Given the description of an element on the screen output the (x, y) to click on. 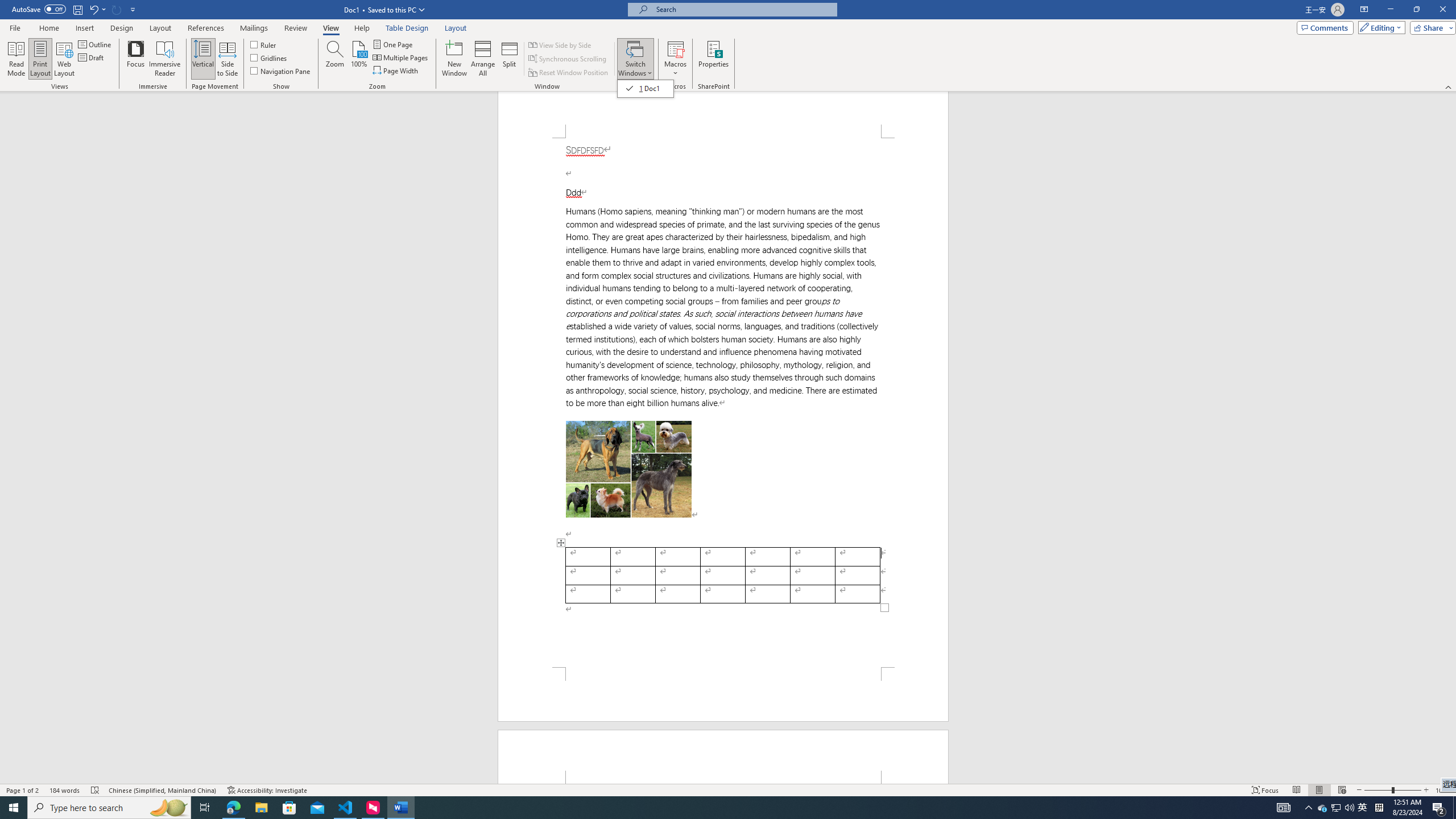
New Window (454, 58)
Share (1430, 27)
100% (358, 58)
Class: MsoCommandBar (728, 789)
Switch Windows (645, 88)
Microsoft Store (289, 807)
Ribbon Display Options (1364, 9)
Ruler (263, 44)
References (205, 28)
Show desktop (1454, 807)
Properties (713, 58)
Search highlights icon opens search home window (167, 807)
Zoom Out (1377, 790)
